Given the description of an element on the screen output the (x, y) to click on. 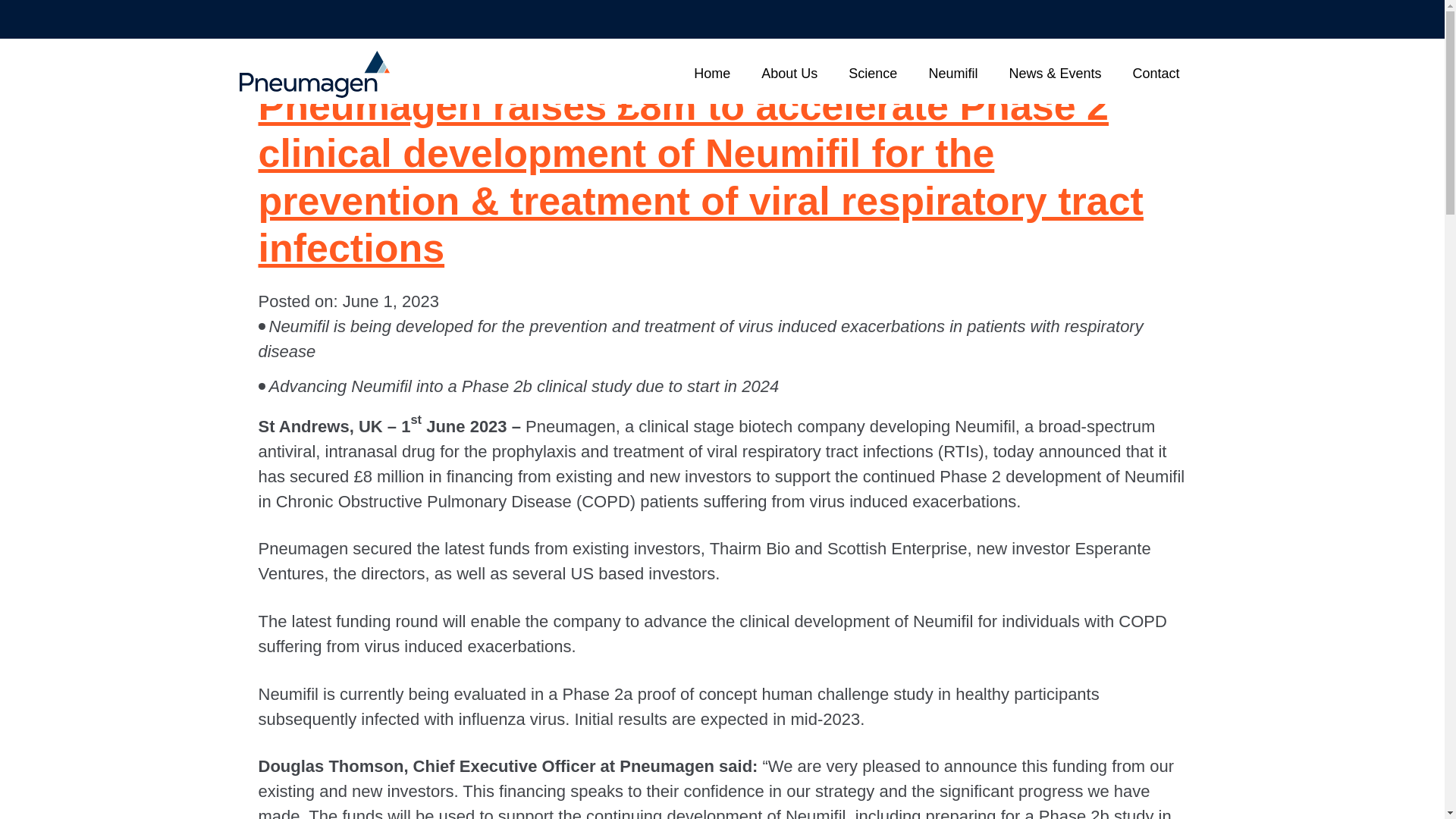
Contact (1155, 74)
About Us (788, 74)
Neumifil (952, 74)
Home (711, 74)
Science (872, 74)
